Given the description of an element on the screen output the (x, y) to click on. 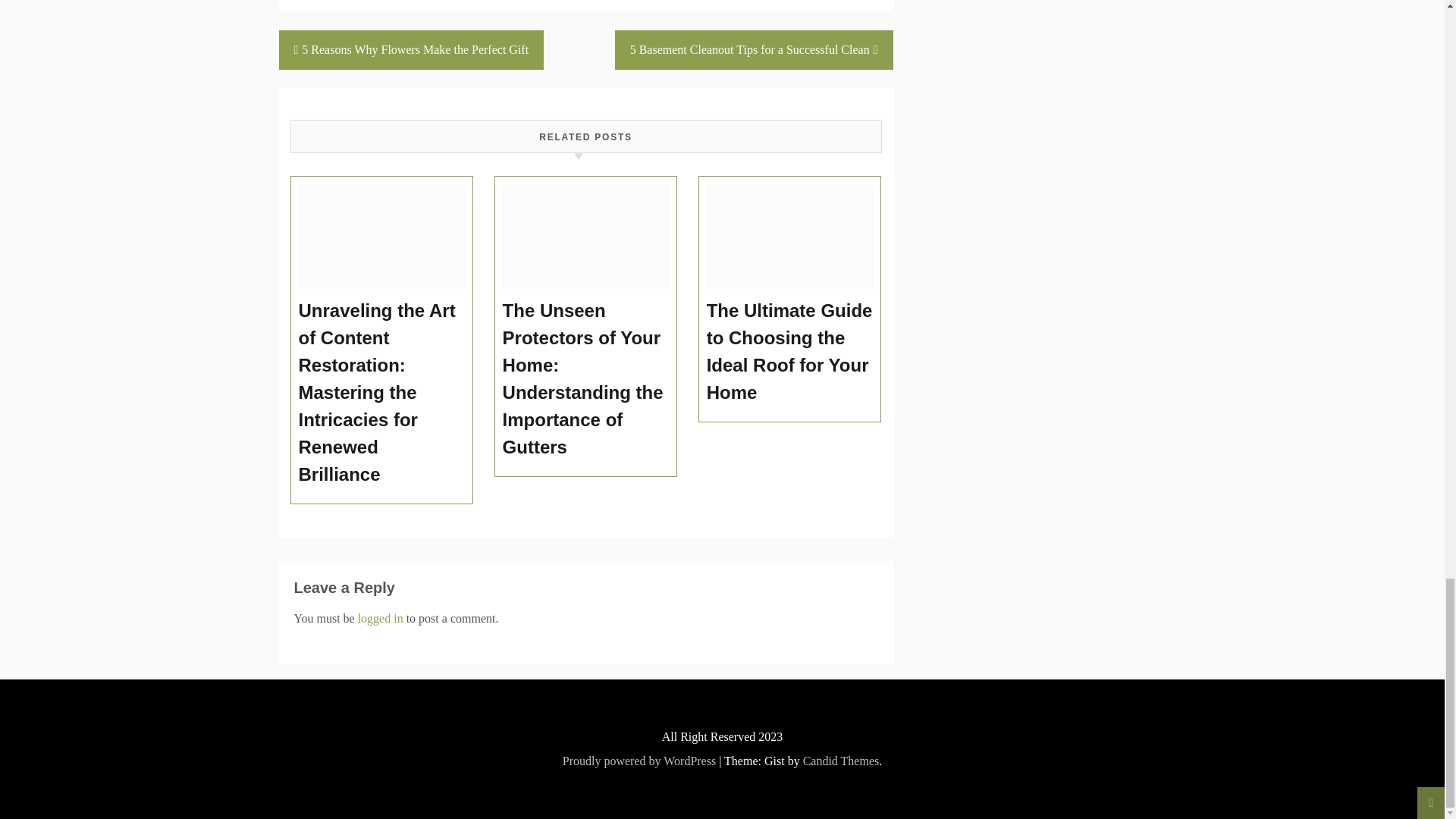
logged in (380, 617)
Candid Themes (841, 760)
Proudly powered by WordPress (639, 760)
The Ultimate Guide to Choosing the Ideal Roof for Your Home (789, 351)
5 Basement Cleanout Tips for a Successful Clean (753, 49)
5 Reasons Why Flowers Make the Perfect Gift (411, 49)
